Given the description of an element on the screen output the (x, y) to click on. 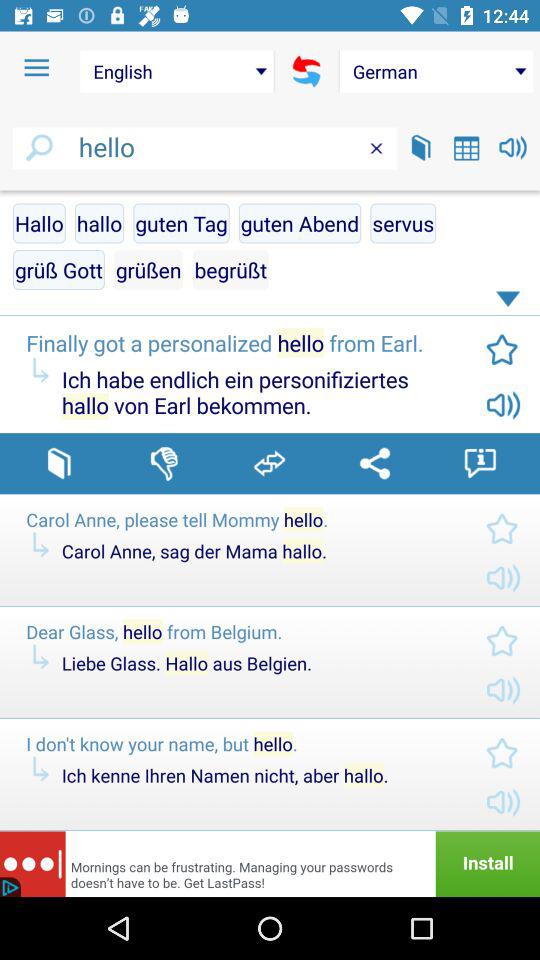
jump to servus icon (403, 223)
